Given the description of an element on the screen output the (x, y) to click on. 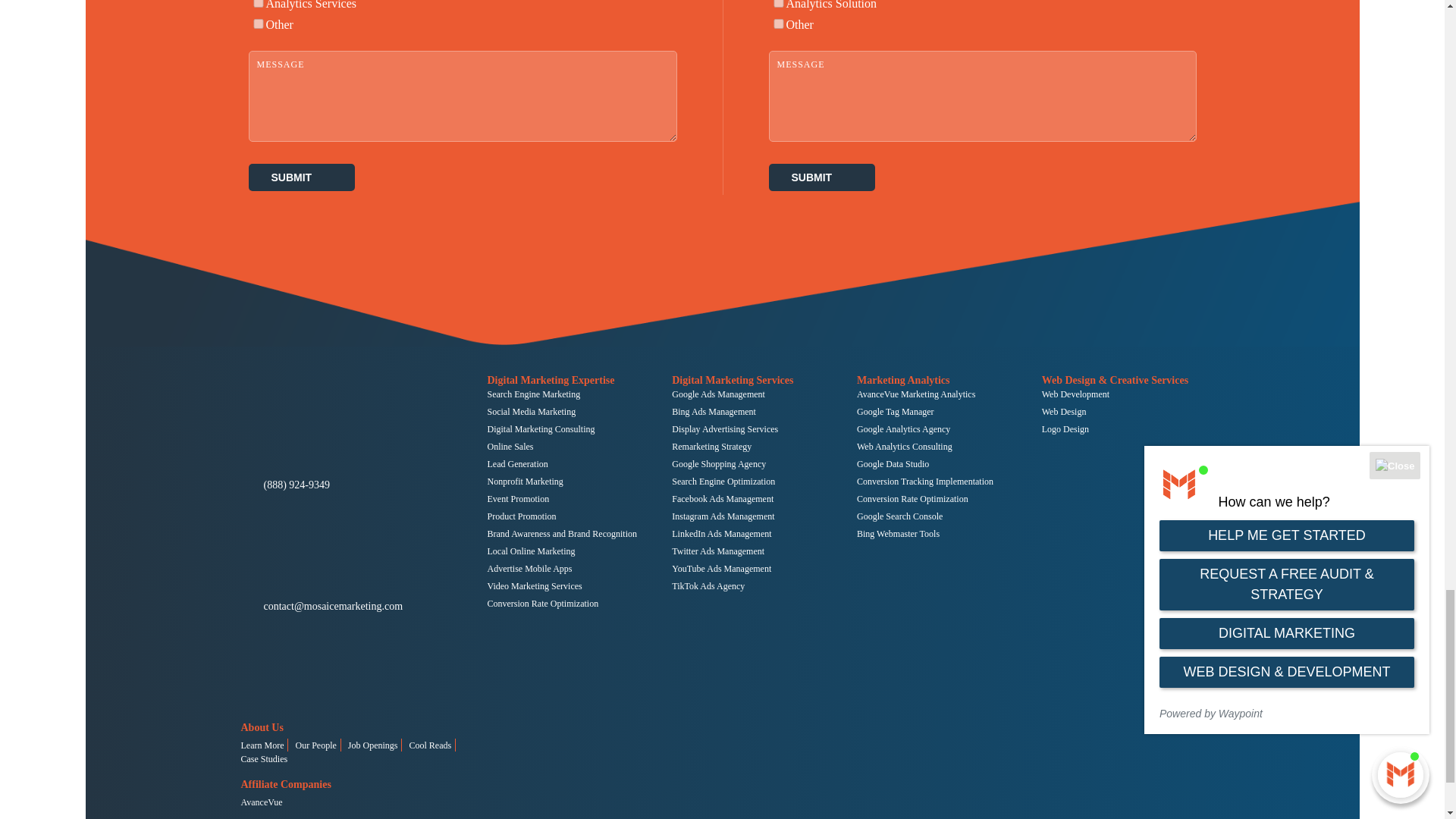
Analytics Solution (778, 3)
Other (778, 23)
Other (258, 23)
Analytics Services (258, 3)
